Given the description of an element on the screen output the (x, y) to click on. 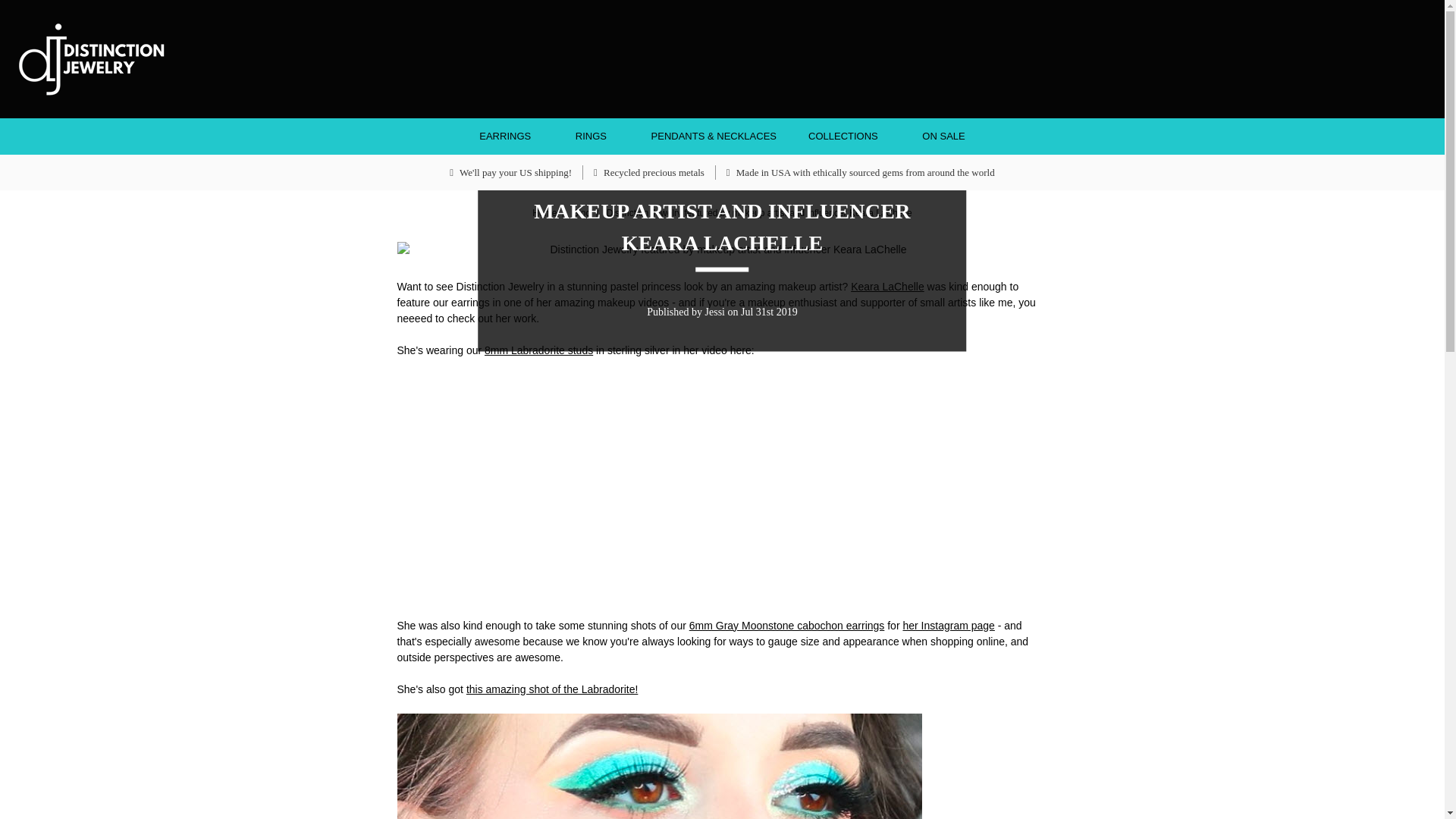
ON SALE (942, 135)
RINGS (596, 135)
COLLECTIONS (848, 135)
EARRINGS (511, 135)
DISTINCTION JEWELRY (91, 59)
